Given the description of an element on the screen output the (x, y) to click on. 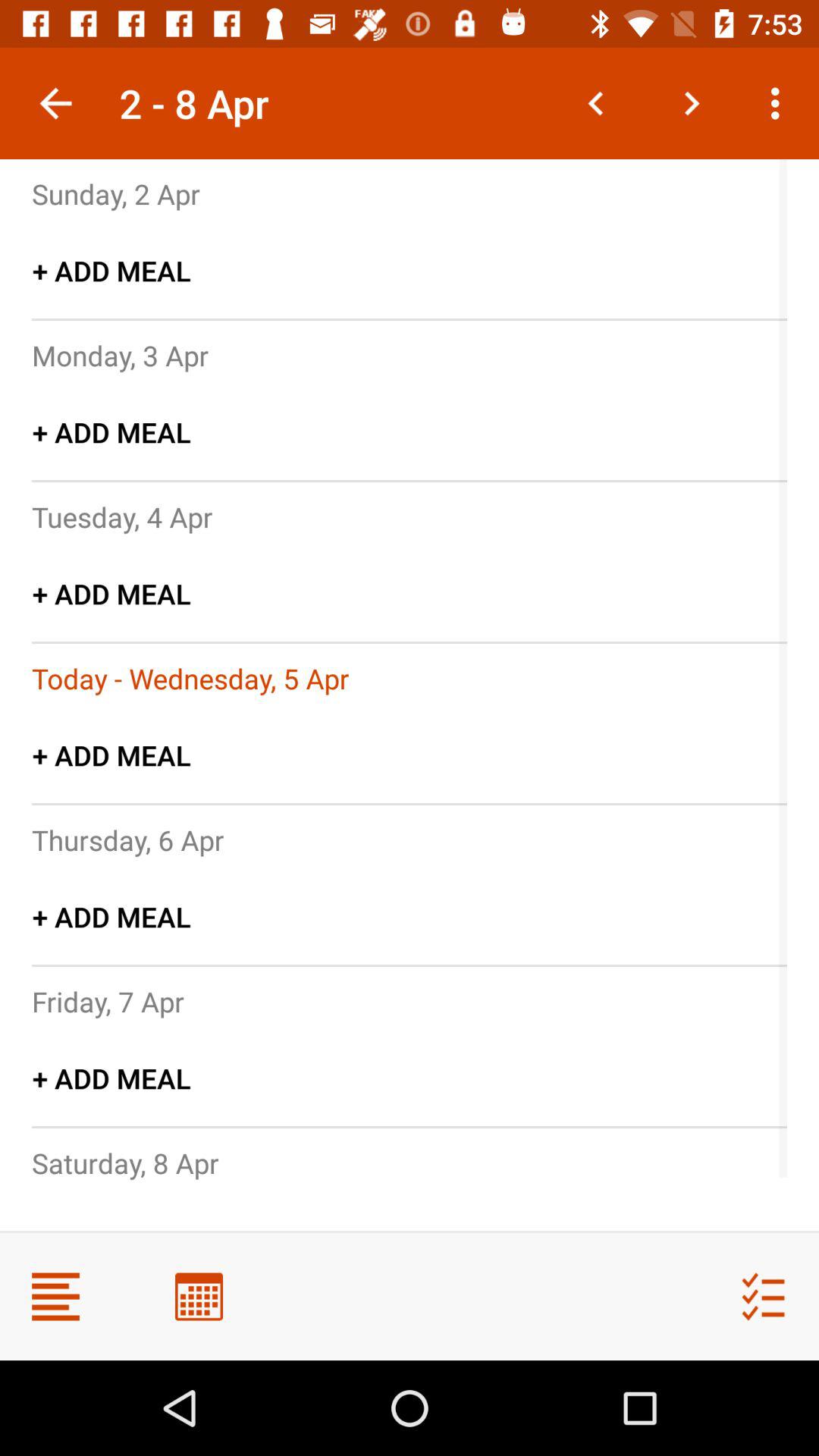
turn off icon above the + add meal item (119, 355)
